Given the description of an element on the screen output the (x, y) to click on. 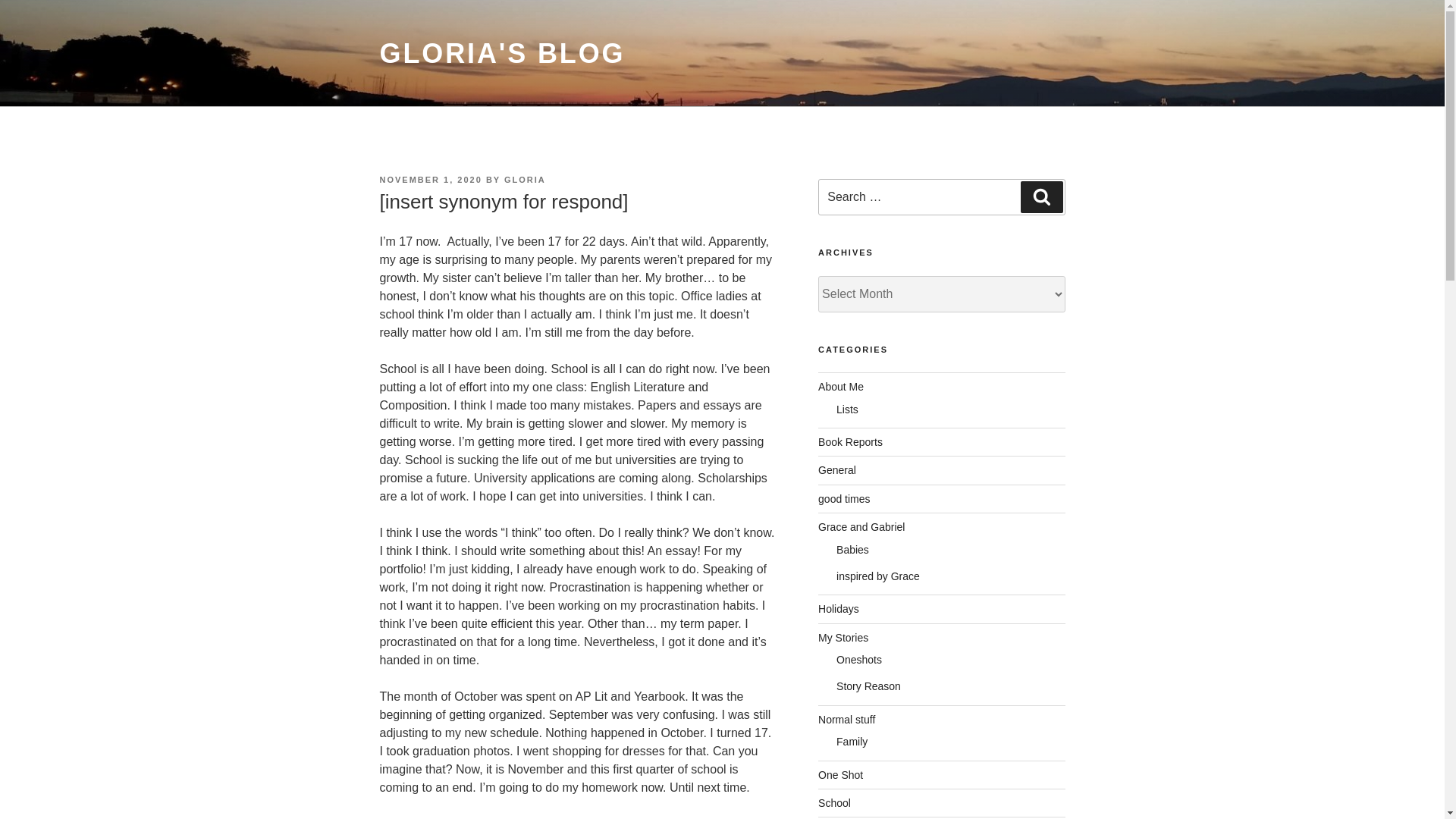
One Shot (840, 775)
Family (851, 741)
Oneshots (858, 659)
GLORIA'S BLOG (501, 52)
inspired by Grace (877, 576)
NOVEMBER 1, 2020 (429, 179)
My Stories (842, 637)
Holidays (838, 608)
Lists (847, 409)
School (834, 802)
good times (843, 499)
Babies (852, 548)
Search (1041, 196)
Grace and Gabriel (861, 526)
Story Reason (868, 686)
